Given the description of an element on the screen output the (x, y) to click on. 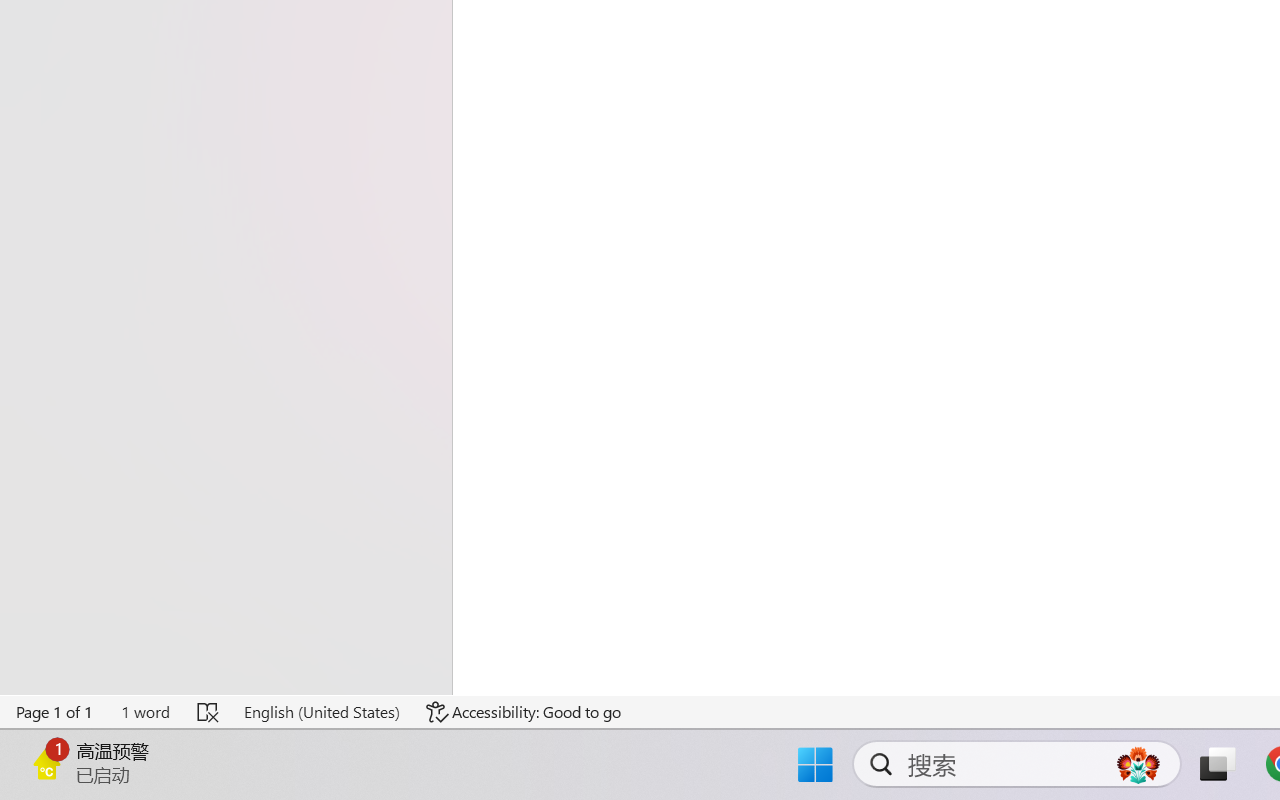
Spelling and Grammar Check Errors (208, 712)
